Given the description of an element on the screen output the (x, y) to click on. 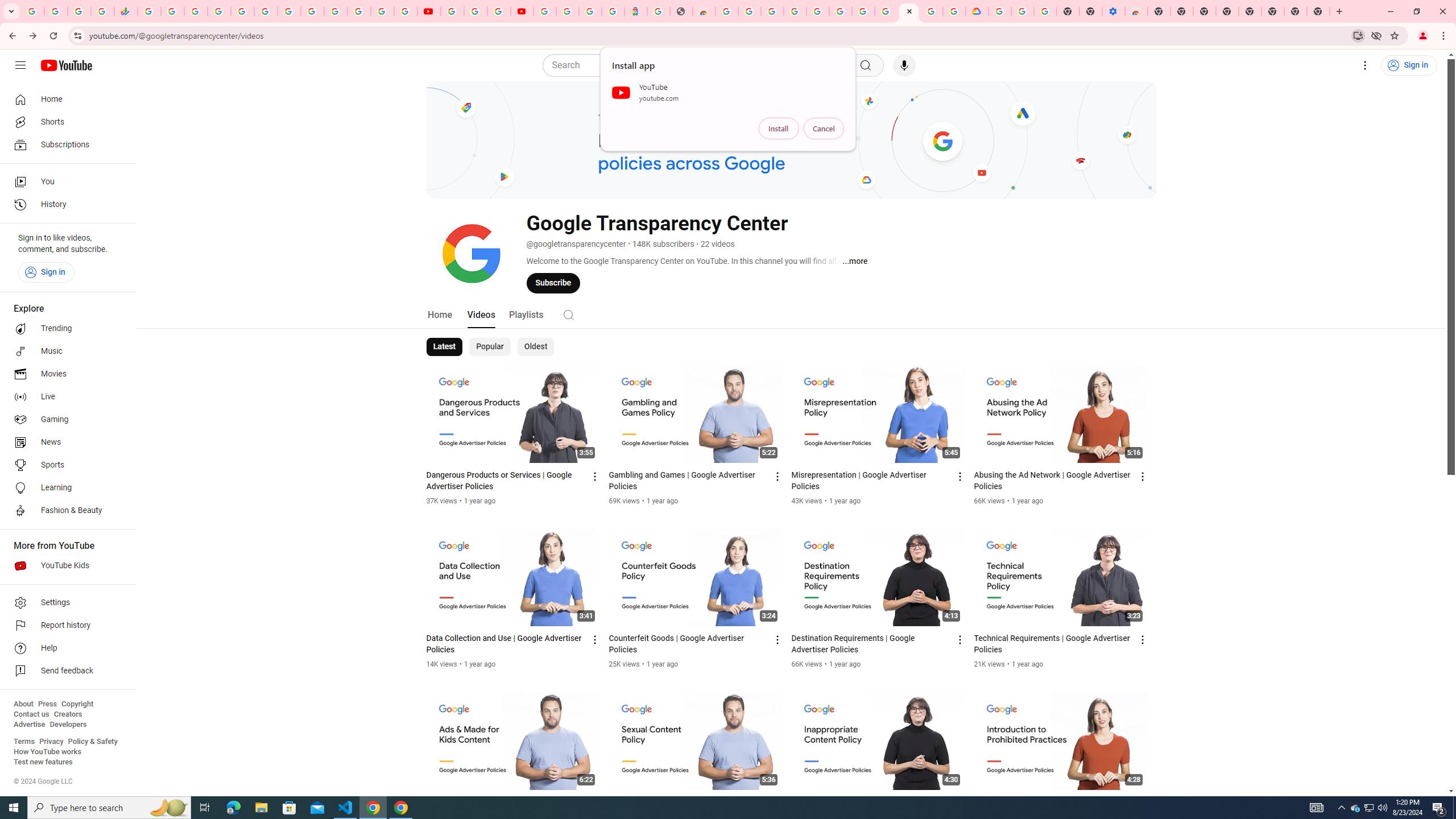
Google Account Help (863, 11)
Videos (481, 314)
YouTube (428, 11)
Live (64, 396)
Google Transparency Center - YouTube (909, 11)
Shorts (64, 121)
Oldest (534, 346)
Learning (64, 487)
